Given the description of an element on the screen output the (x, y) to click on. 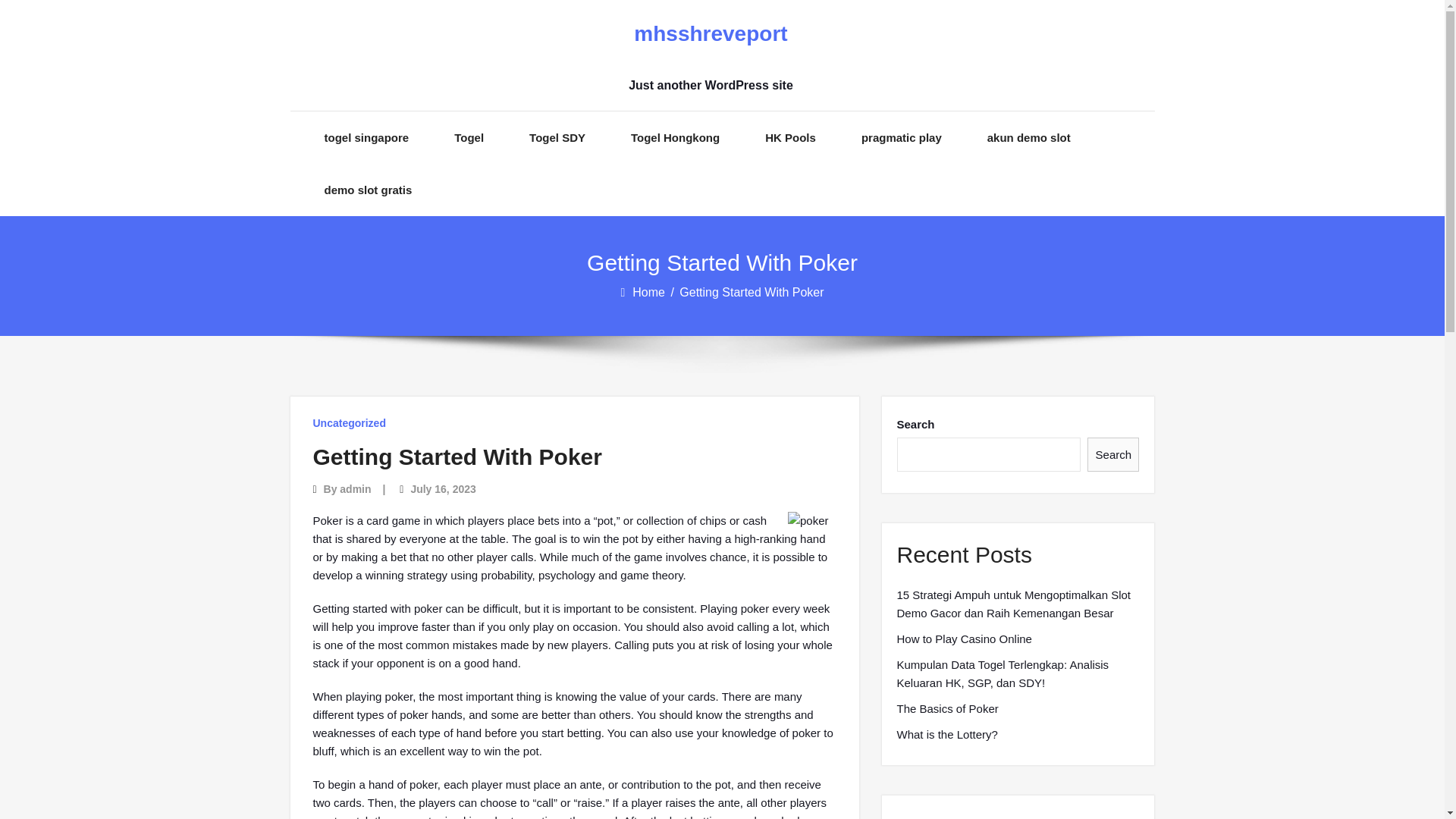
mhsshreveport (710, 34)
Home (648, 291)
The Basics of Poker (946, 709)
Togel SDY (557, 137)
demo slot gratis (368, 189)
togel singapore (366, 137)
admin (355, 489)
Search (1112, 454)
